Given the description of an element on the screen output the (x, y) to click on. 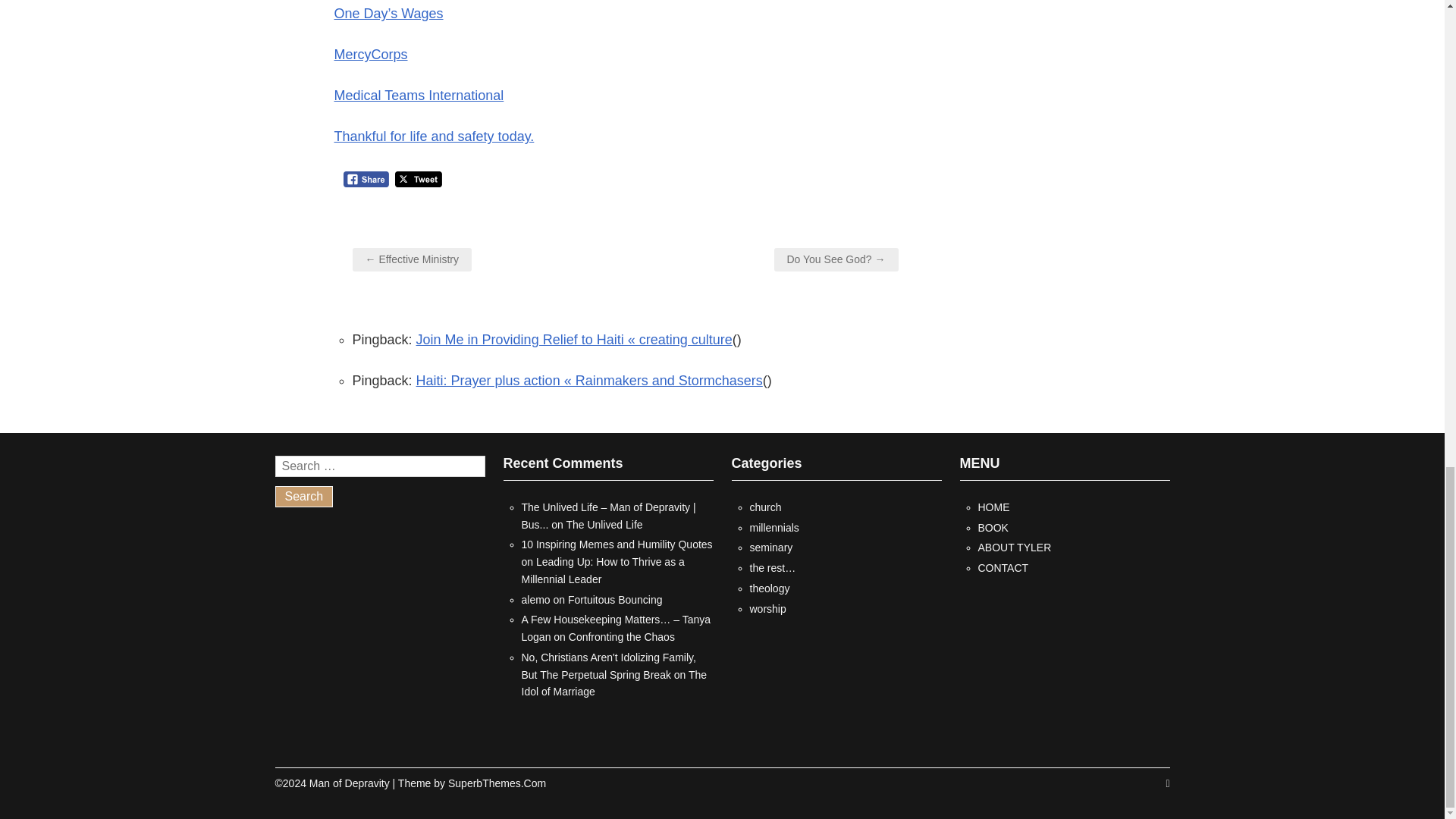
Search (304, 496)
Search (304, 496)
10 Inspiring Memes and Humility Quotes (617, 544)
Fortuitous Bouncing (614, 599)
MercyCorps (370, 54)
Leading Up: How to Thrive as a Millennial Leader (602, 570)
millennials (773, 527)
Medical Teams International (418, 95)
Search (304, 496)
The Idol of Marriage (614, 683)
Facebook Share (365, 179)
Theology (769, 588)
church (764, 507)
